Given the description of an element on the screen output the (x, y) to click on. 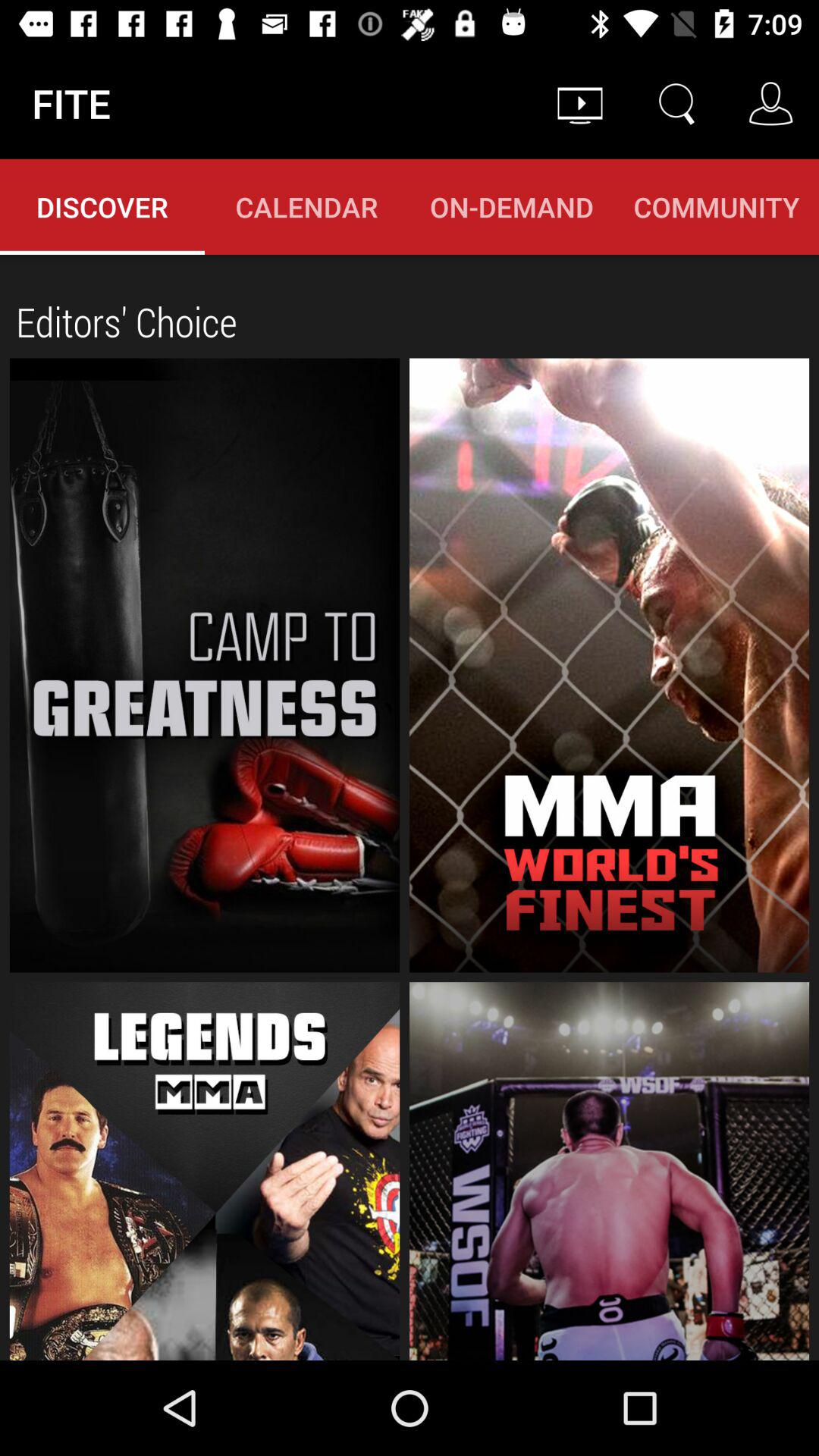
select the mma world 's finest option (609, 665)
